Given the description of an element on the screen output the (x, y) to click on. 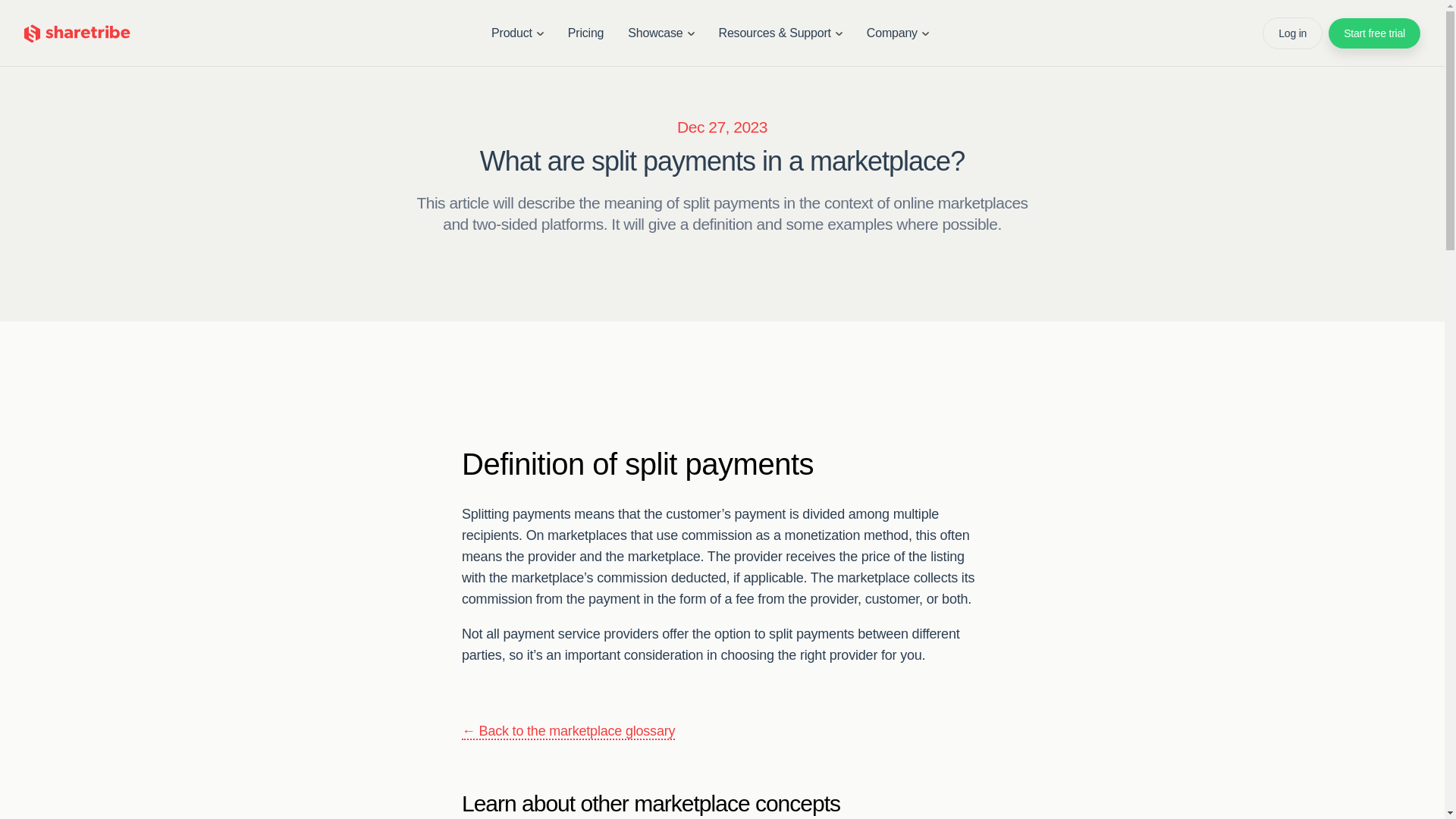
Start free trial (1374, 33)
Showcase (660, 33)
Pricing (585, 33)
Log in (1292, 33)
Company (897, 33)
Product (517, 33)
